Given the description of an element on the screen output the (x, y) to click on. 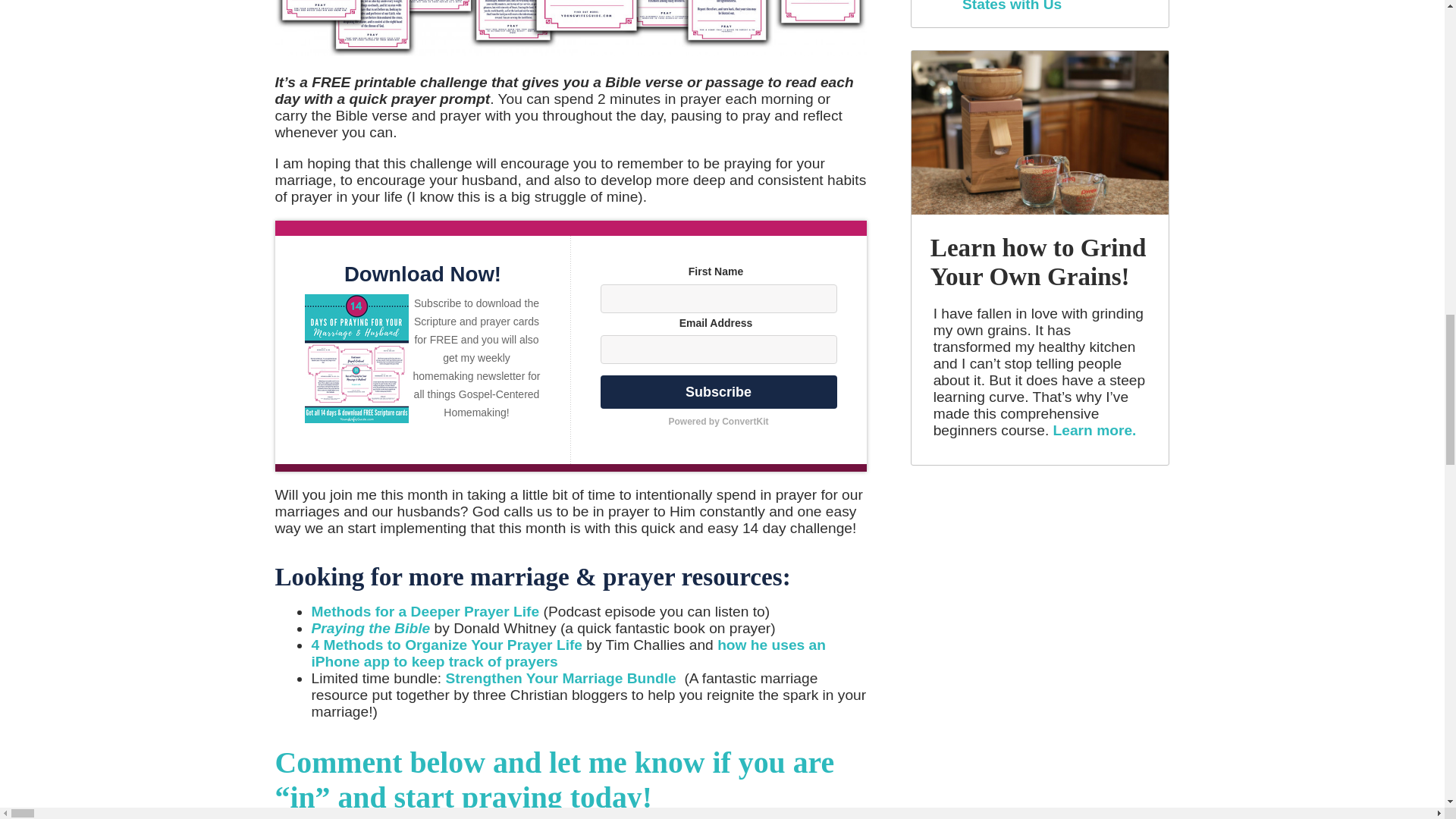
how he uses an iPhone app to keep track of prayers (568, 653)
Praying the Bible (370, 627)
Methods for a Deeper Prayer Life (424, 611)
Subscribe (718, 391)
Powered by ConvertKit (718, 421)
4 Methods to Organize Your Prayer Life (446, 644)
Strengthen Your Marriage Bundle (561, 678)
